Given the description of an element on the screen output the (x, y) to click on. 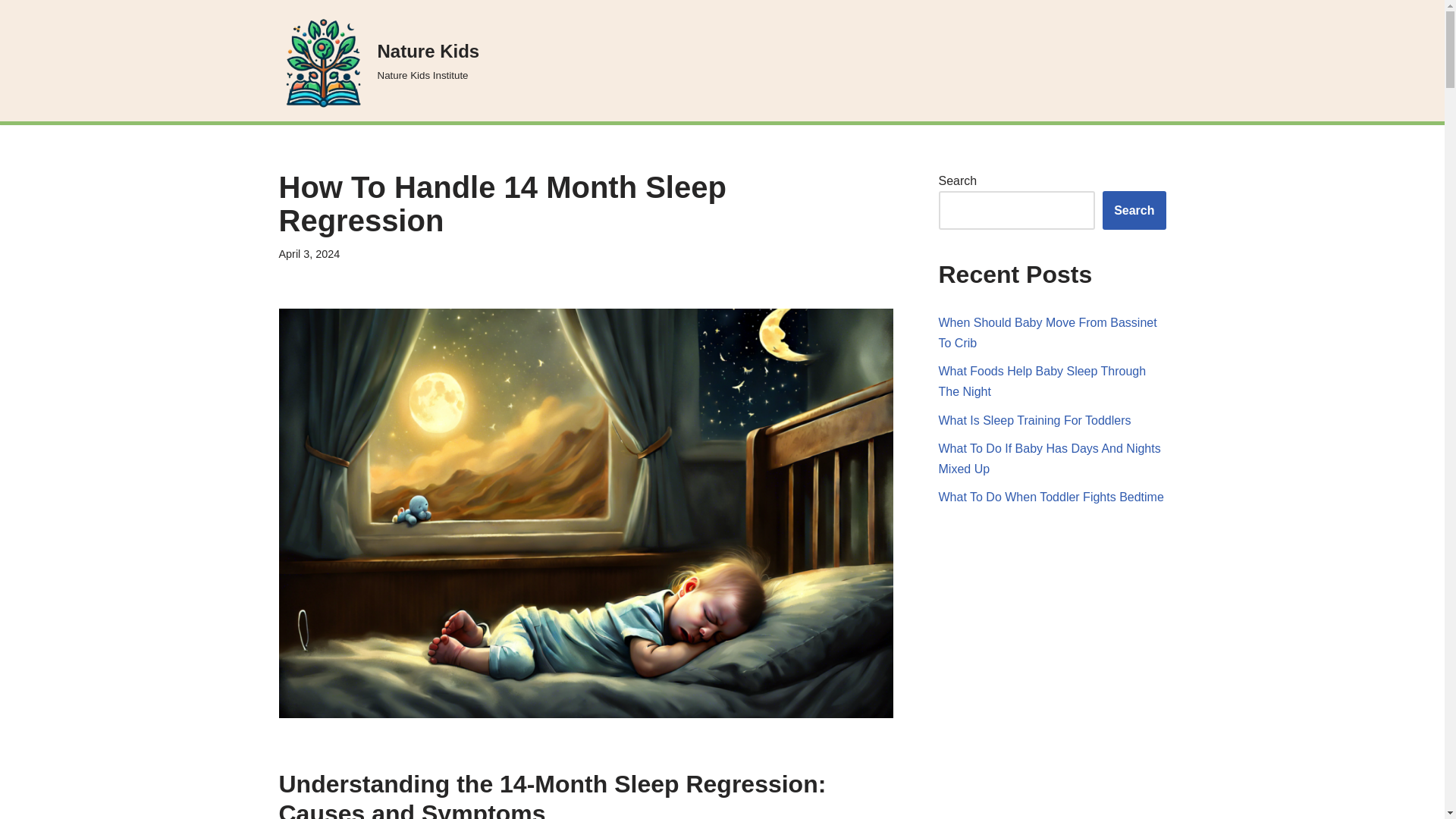
Search (379, 60)
When Should Baby Move From Bassinet To Crib (1134, 210)
What To Do When Toddler Fights Bedtime (1048, 332)
Skip to content (1051, 496)
What To Do If Baby Has Days And Nights Mixed Up (11, 31)
What Foods Help Baby Sleep Through The Night (1049, 458)
What Is Sleep Training For Toddlers (1043, 381)
